Given the description of an element on the screen output the (x, y) to click on. 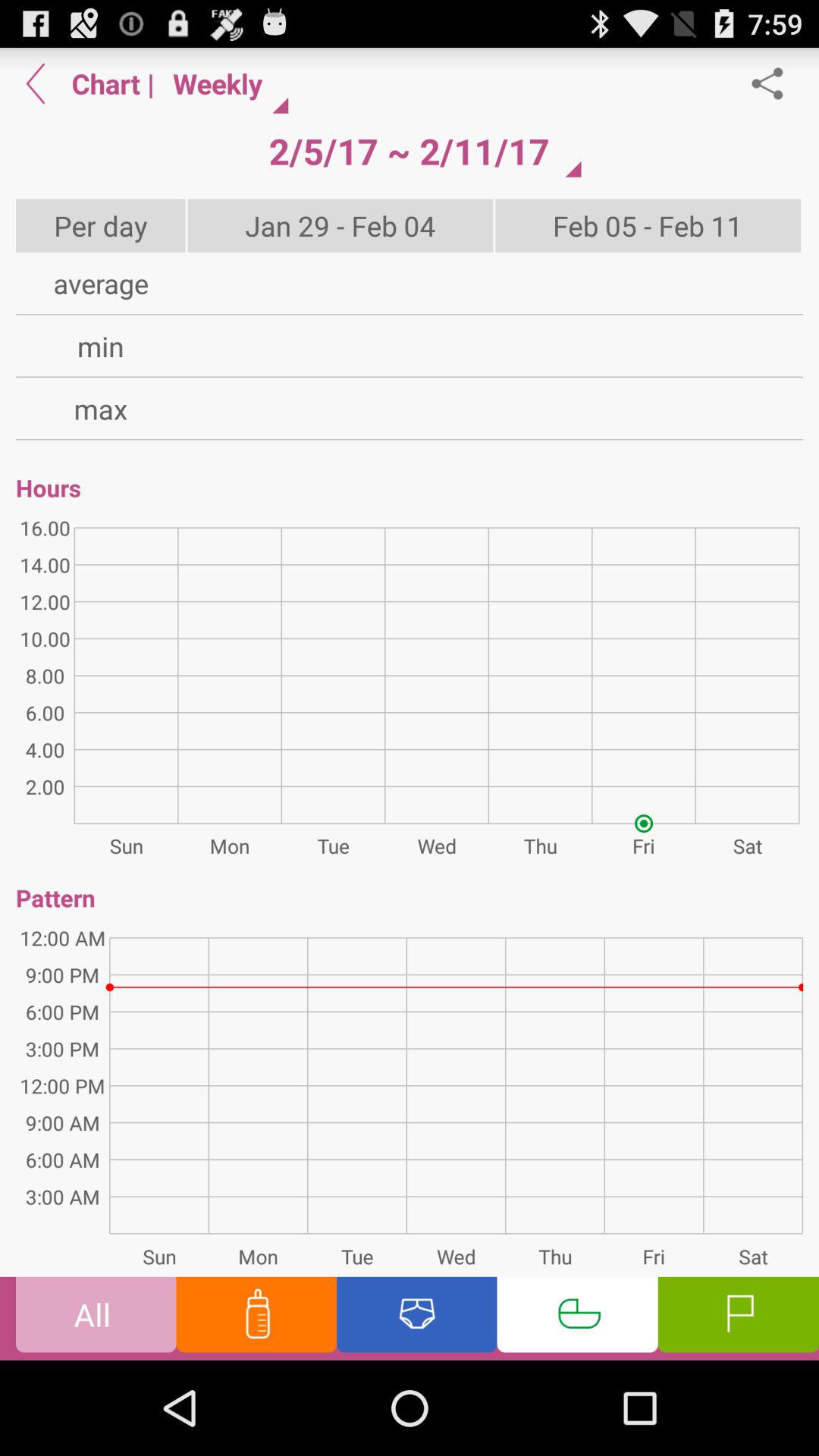
share the report (775, 83)
